Given the description of an element on the screen output the (x, y) to click on. 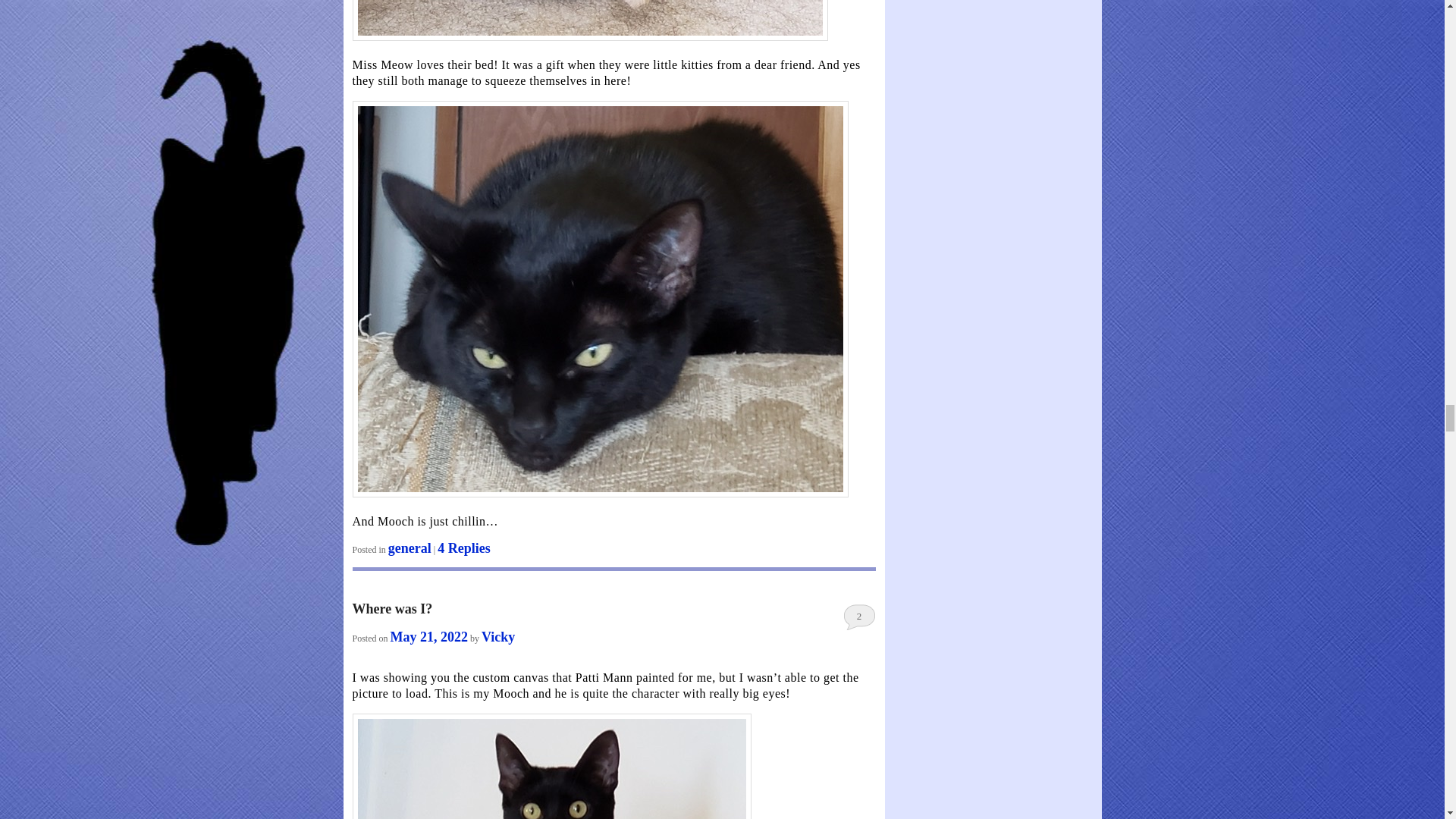
4 Replies (464, 548)
Where was I? (392, 608)
general (409, 548)
11:49 am (429, 636)
May 21, 2022 (429, 636)
View all posts by Vicky (498, 636)
